Given the description of an element on the screen output the (x, y) to click on. 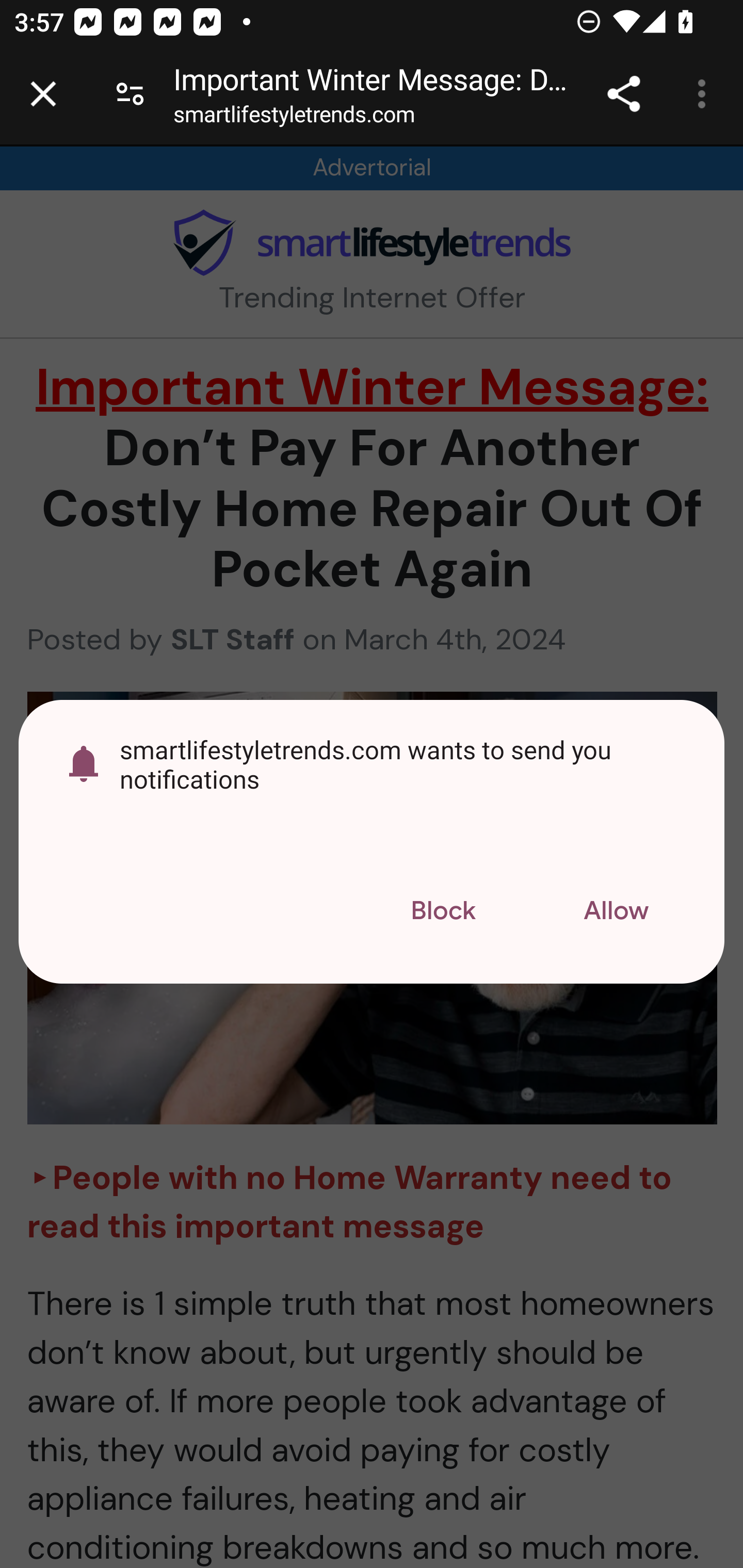
Close tab (43, 93)
Share link address (623, 93)
Customize and control Google Chrome (705, 93)
Connection is secure (129, 93)
smartlifestyletrends.com (294, 117)
Block (442, 911)
Allow (615, 911)
